Given the description of an element on the screen output the (x, y) to click on. 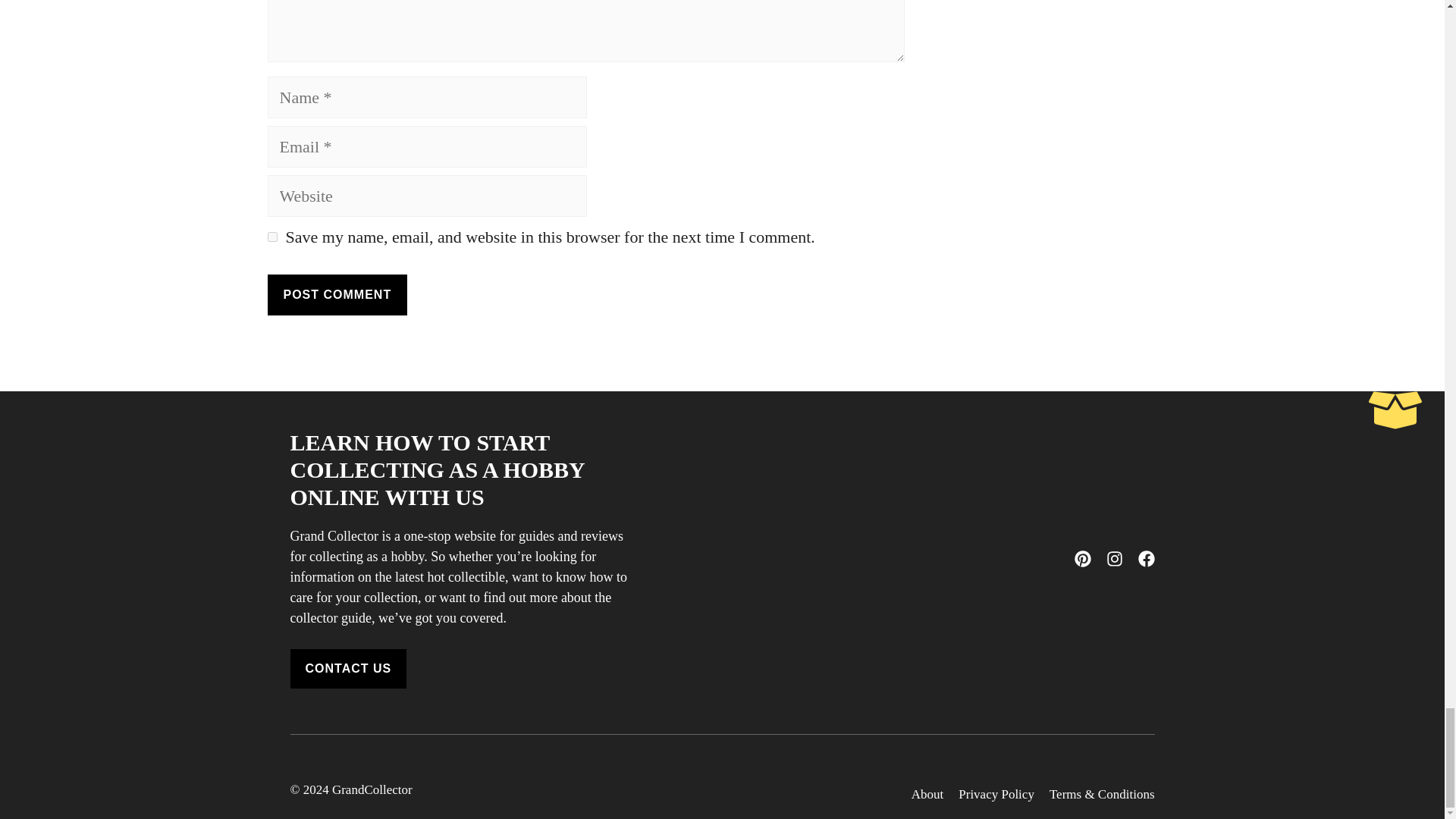
About (927, 794)
Post Comment (336, 294)
yes (271, 236)
CONTACT US (347, 668)
Post Comment (336, 294)
